Given the description of an element on the screen output the (x, y) to click on. 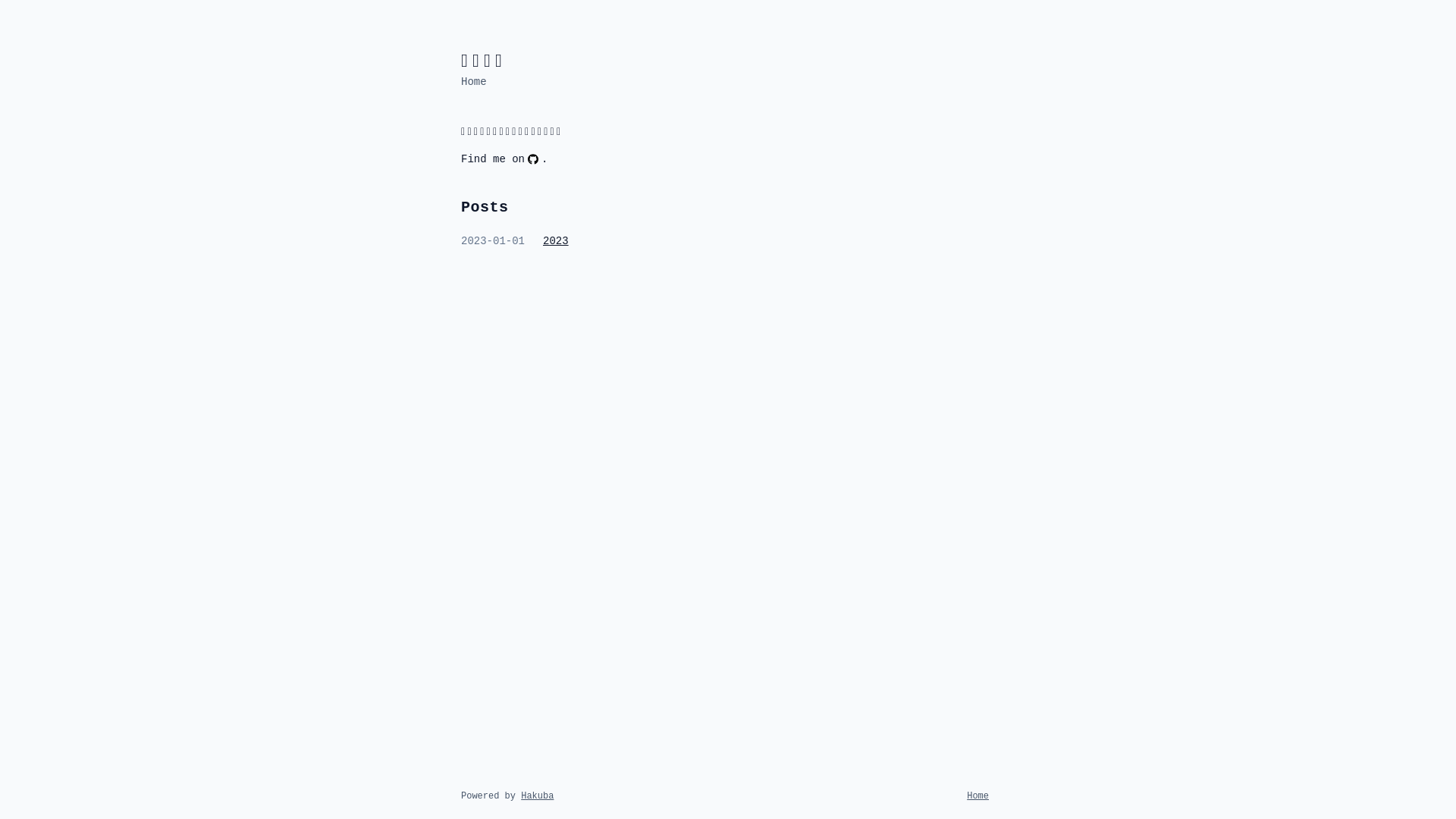
Home Element type: text (473, 81)
Home Element type: text (977, 795)
2023 Element type: text (555, 240)
Hakuba Element type: text (536, 795)
